Given the description of an element on the screen output the (x, y) to click on. 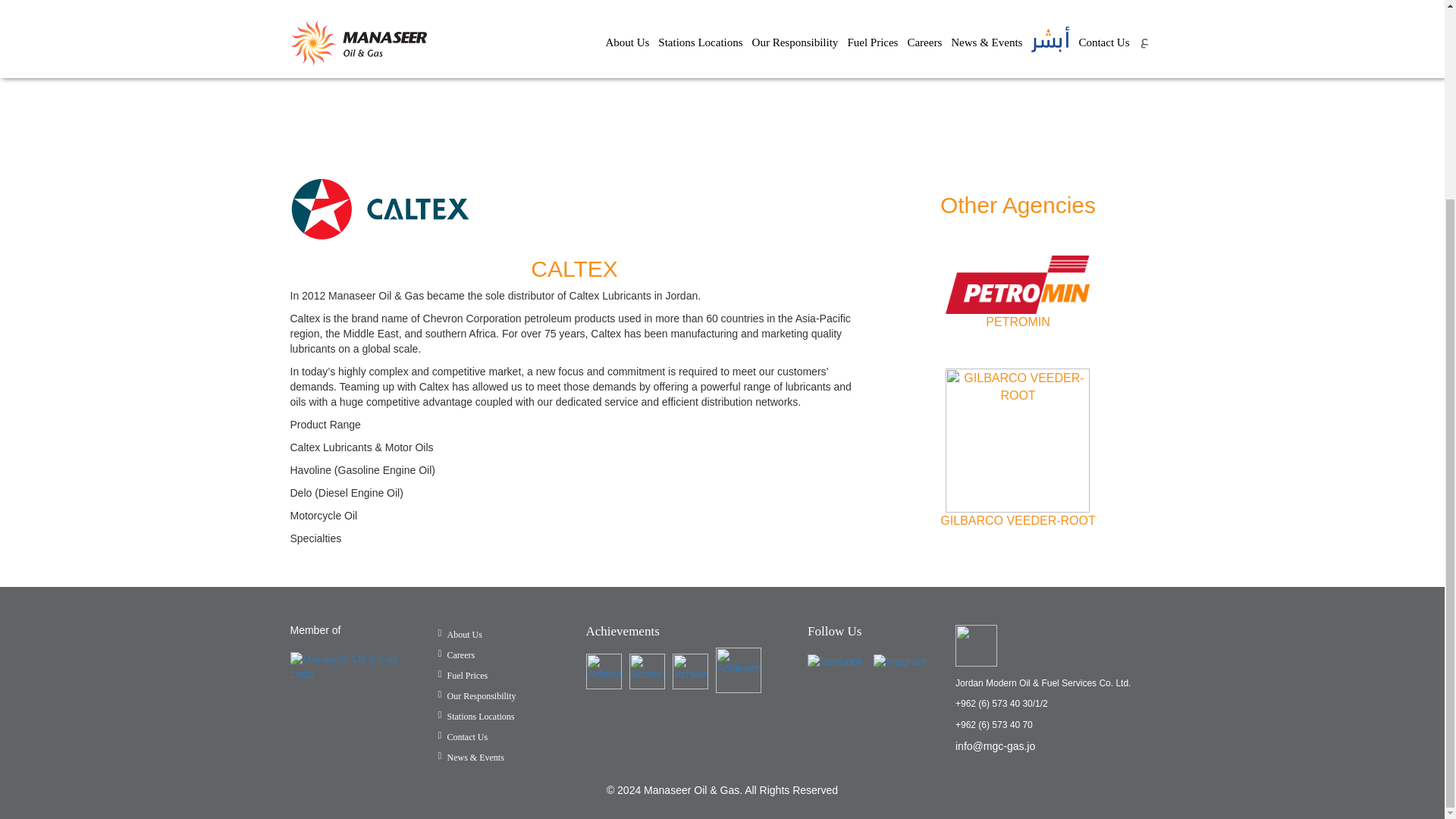
PETROMIN (1017, 321)
Careers (457, 655)
GILBARCO VEEDER-ROOT (1017, 520)
Our Responsibility (477, 696)
Contact Us (462, 737)
About Us (459, 634)
Stations Locations (476, 716)
Fuel Prices (462, 675)
